Given the description of an element on the screen output the (x, y) to click on. 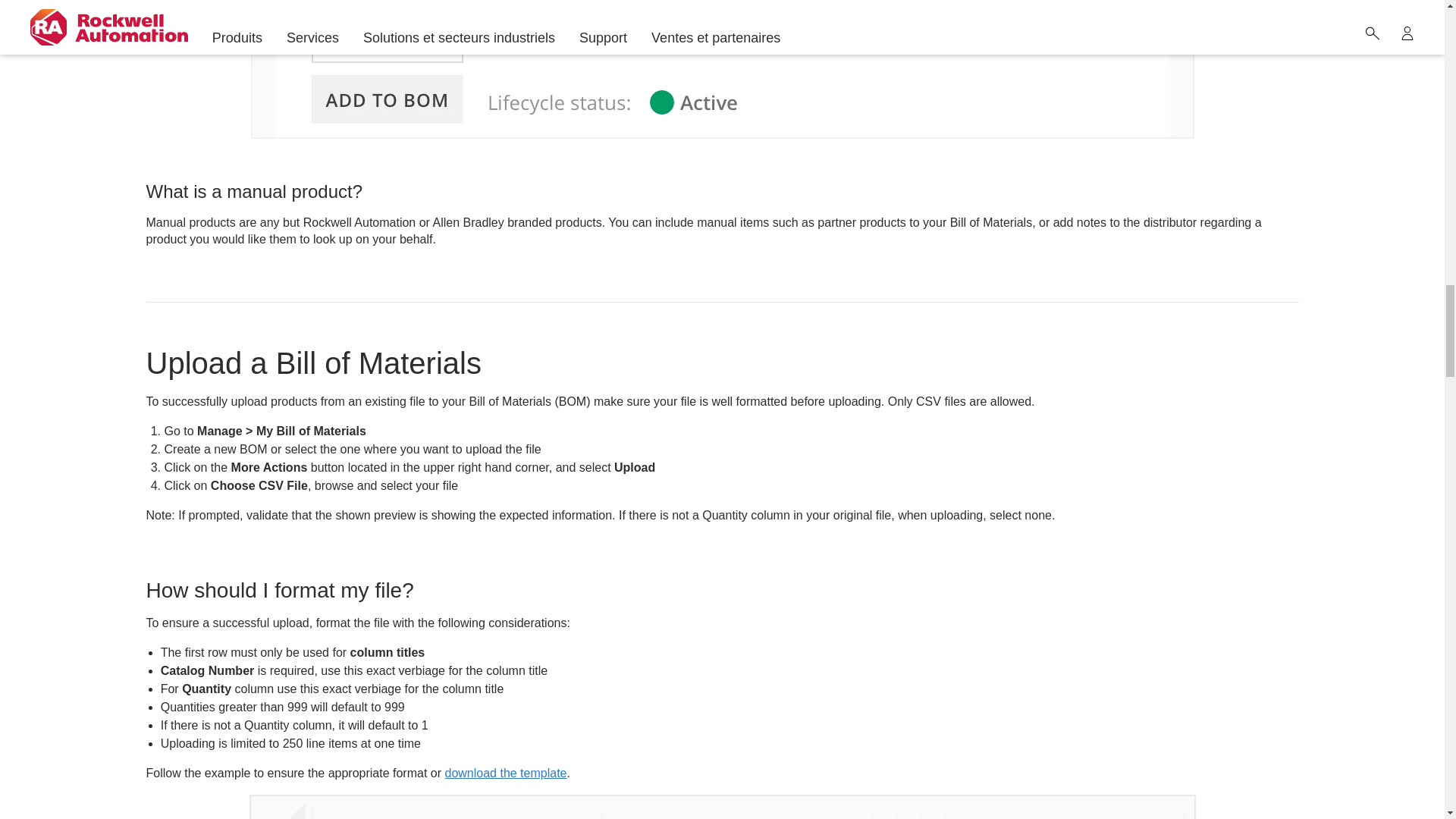
Download the CSV Template (505, 772)
